Given the description of an element on the screen output the (x, y) to click on. 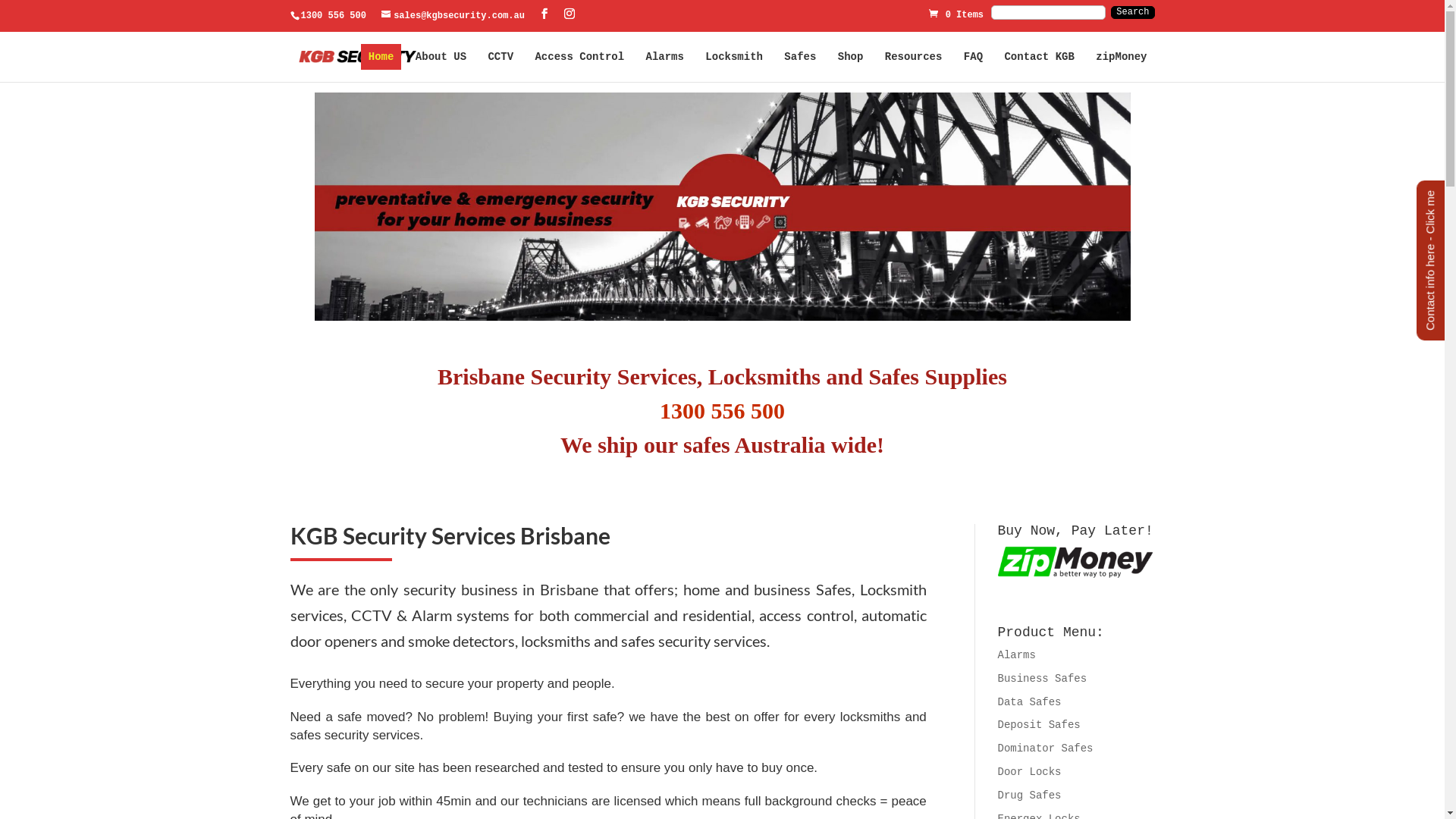
1300 556 500 Element type: text (721, 410)
Dominator Safes Element type: text (1045, 748)
CCTV Element type: text (500, 56)
Home Element type: text (380, 56)
sales@kgbsecurity.com.au Element type: text (452, 15)
Alarms Element type: text (664, 56)
About US Element type: text (440, 56)
Door Locks Element type: text (1029, 771)
Business Safes Element type: text (1042, 678)
Drug Safes Element type: text (1029, 795)
Deposit Safes Element type: text (1038, 724)
0 Items Element type: text (955, 14)
FAQ Element type: text (973, 56)
Resources Element type: text (913, 56)
Search Element type: text (1132, 12)
zipMoney Element type: text (1121, 56)
Safes Element type: text (799, 56)
Shop Element type: text (850, 56)
Alarms Element type: text (1016, 655)
Contact KGB Element type: text (1038, 56)
Locksmith Element type: text (733, 56)
Access Control Element type: text (579, 56)
1300 556 500 Element type: text (332, 15)
Data Safes Element type: text (1029, 702)
